Given the description of an element on the screen output the (x, y) to click on. 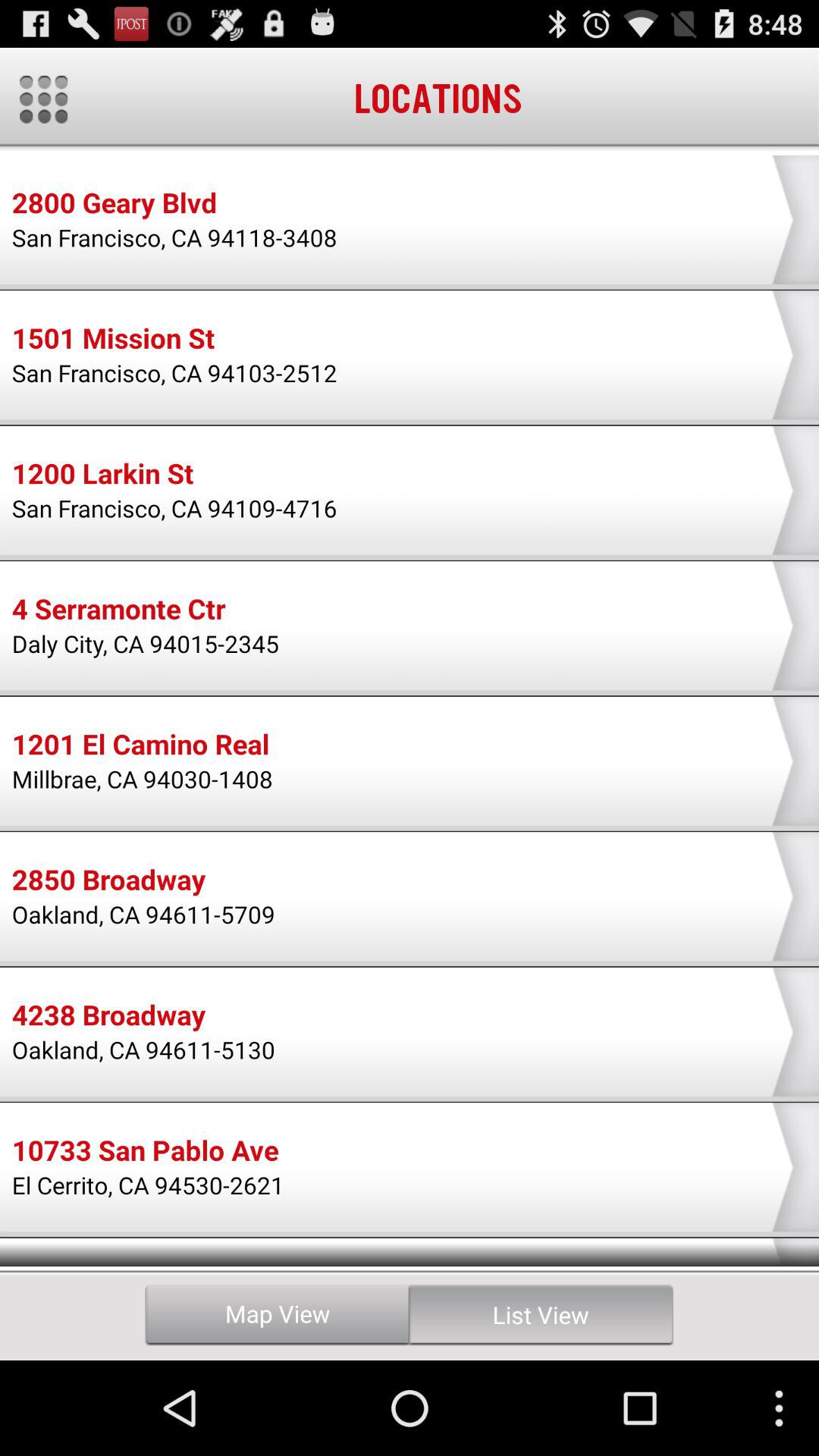
flip to the 4238 broadway (108, 1017)
